Given the description of an element on the screen output the (x, y) to click on. 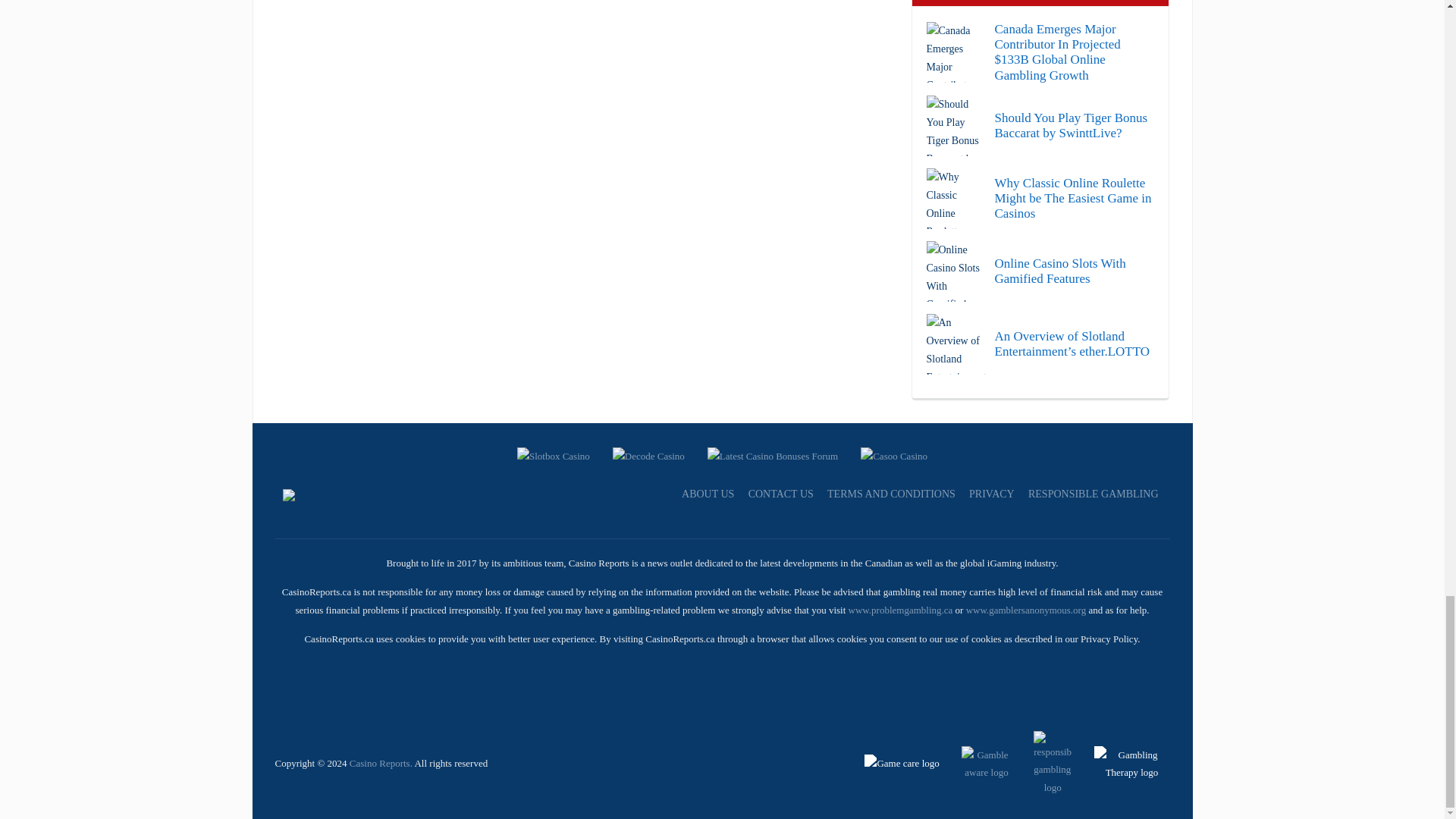
Should You Play Tiger Bonus Baccarat by SwinttLive? (1040, 125)
Latest Casino Bonuses Forum (772, 454)
Online Casino Slots With Gamified Features (1040, 271)
Gamble Aware (977, 762)
Game Care (903, 762)
